Given the description of an element on the screen output the (x, y) to click on. 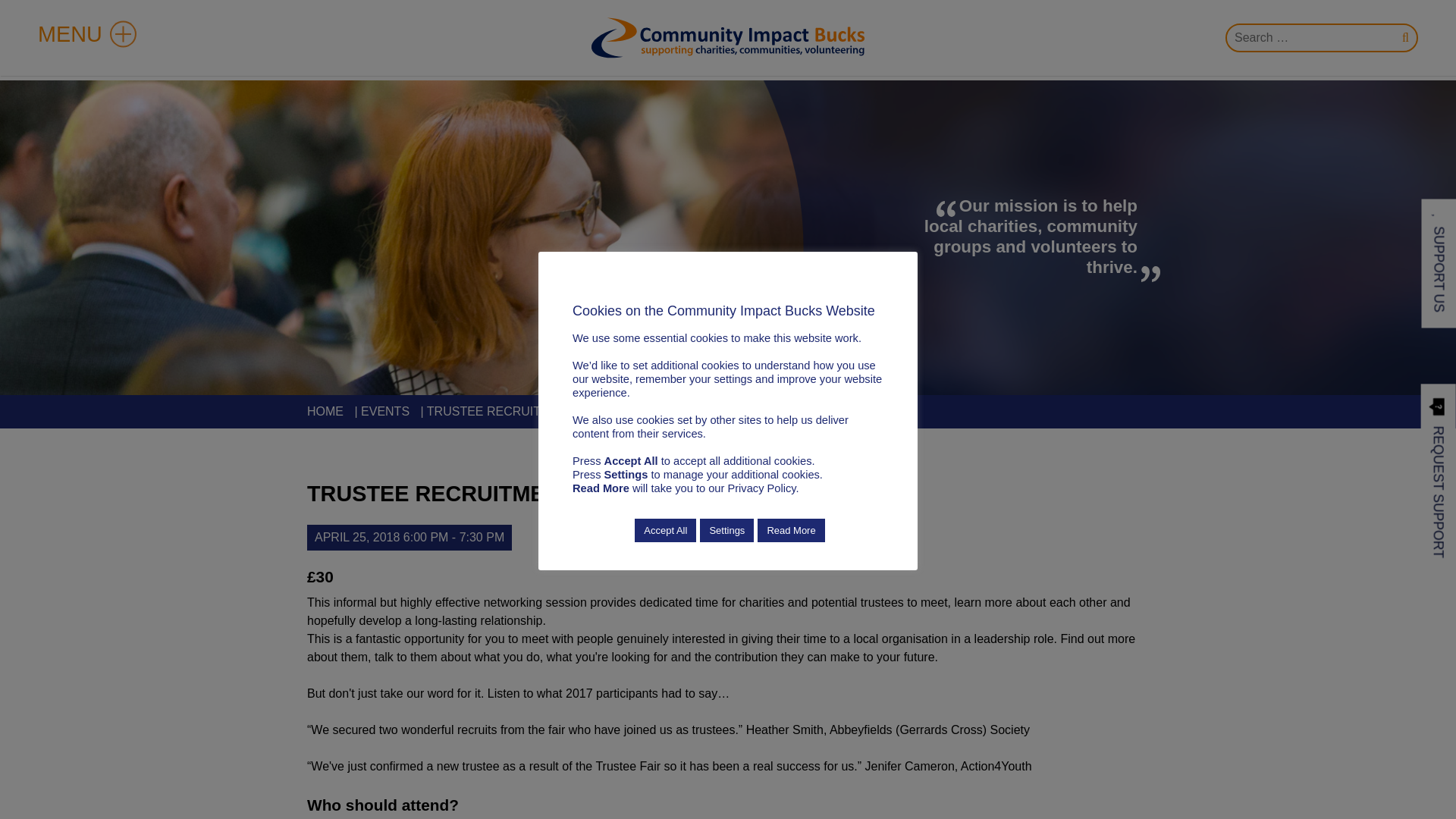
MENU (86, 34)
Community Impact Bucks (727, 37)
